Given the description of an element on the screen output the (x, y) to click on. 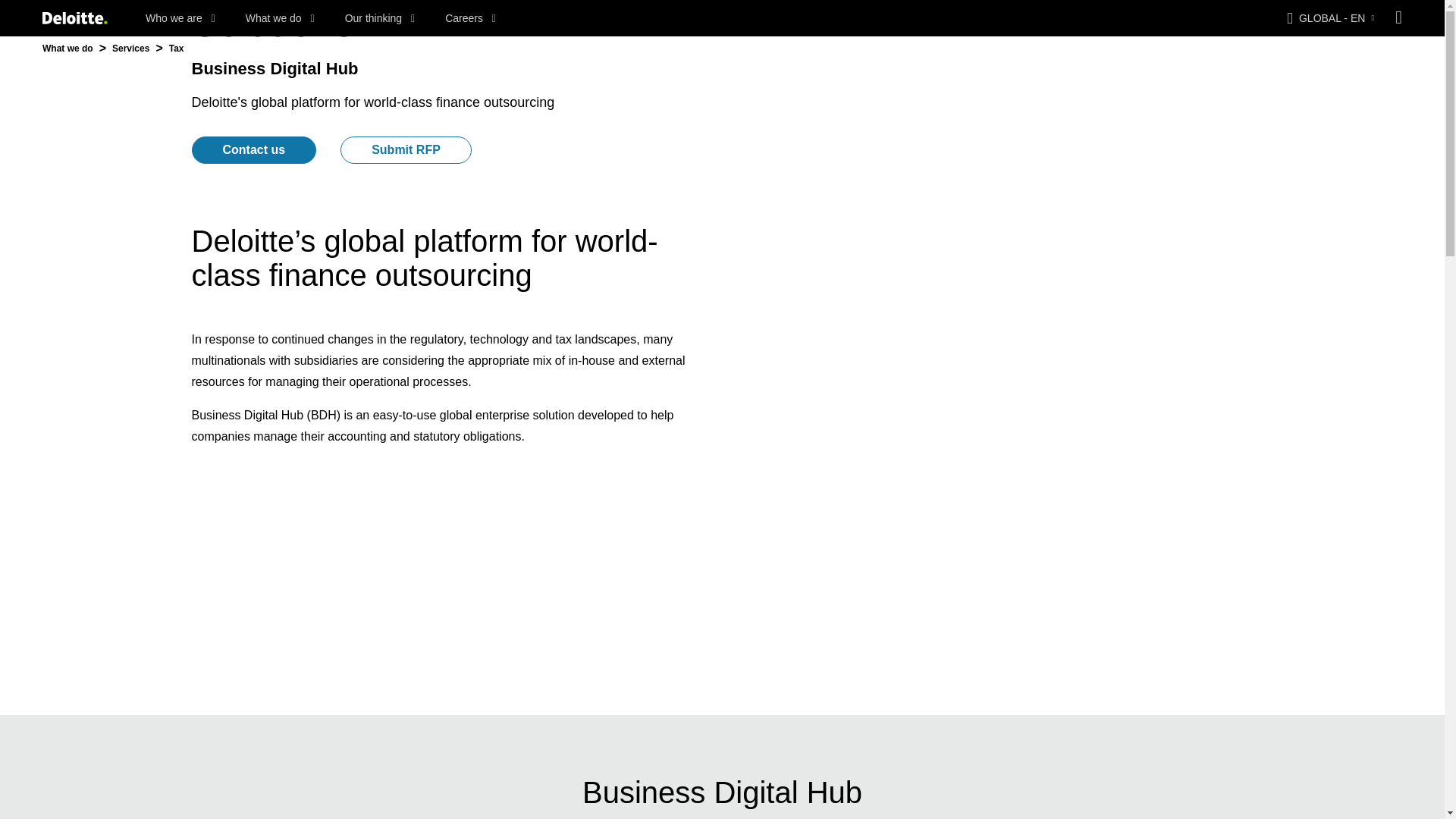
Who we are (180, 18)
Careers (470, 18)
What we do (280, 18)
Deloitte (74, 18)
Our thinking (379, 18)
